Given the description of an element on the screen output the (x, y) to click on. 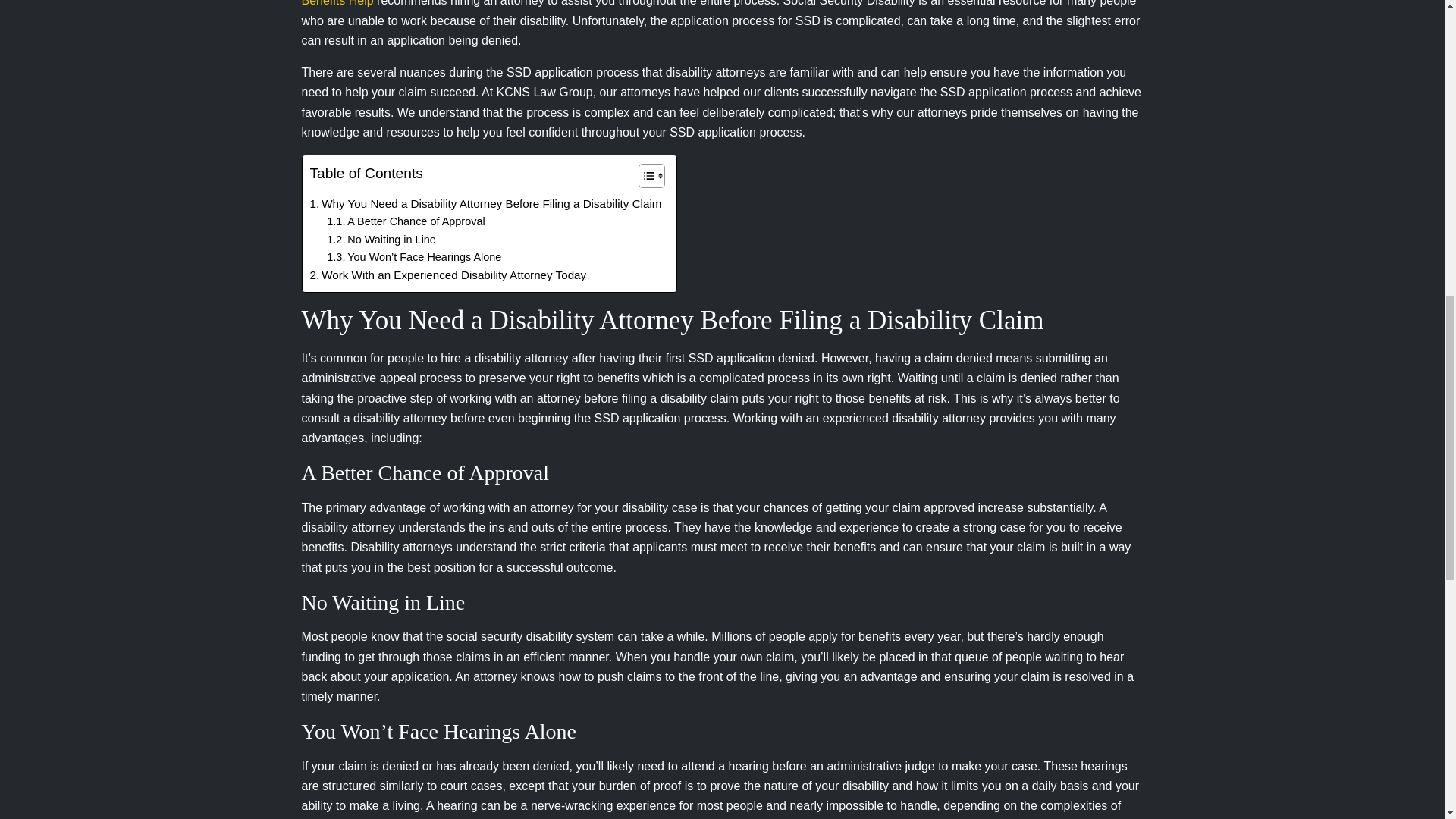
A Better Chance of Approval (405, 221)
No Waiting in Line (380, 239)
Work With an Experienced Disability Attorney Today (447, 275)
